Given the description of an element on the screen output the (x, y) to click on. 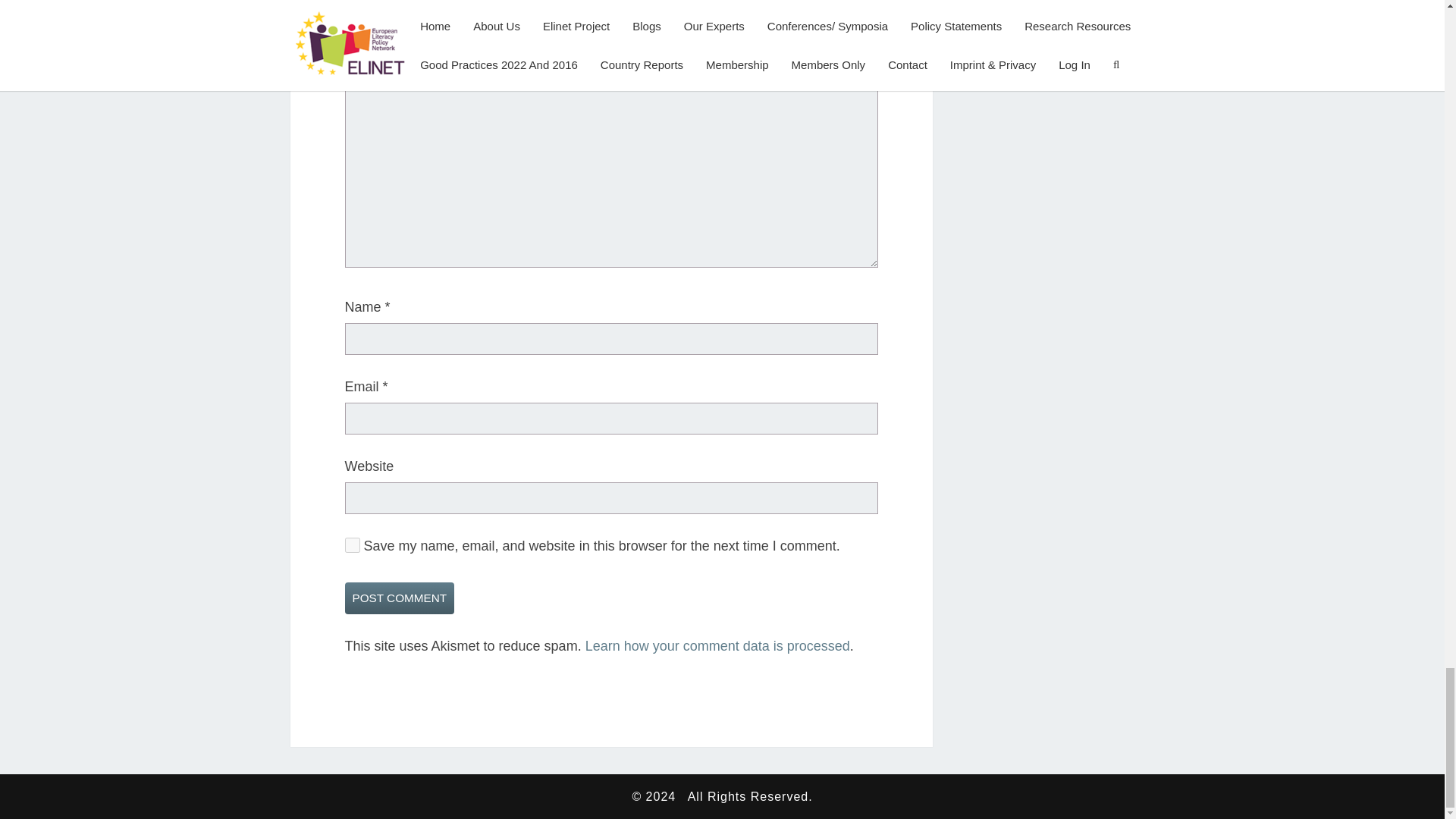
Post Comment (398, 598)
Post Comment (398, 598)
yes (351, 544)
Learn how your comment data is processed (717, 645)
